Given the description of an element on the screen output the (x, y) to click on. 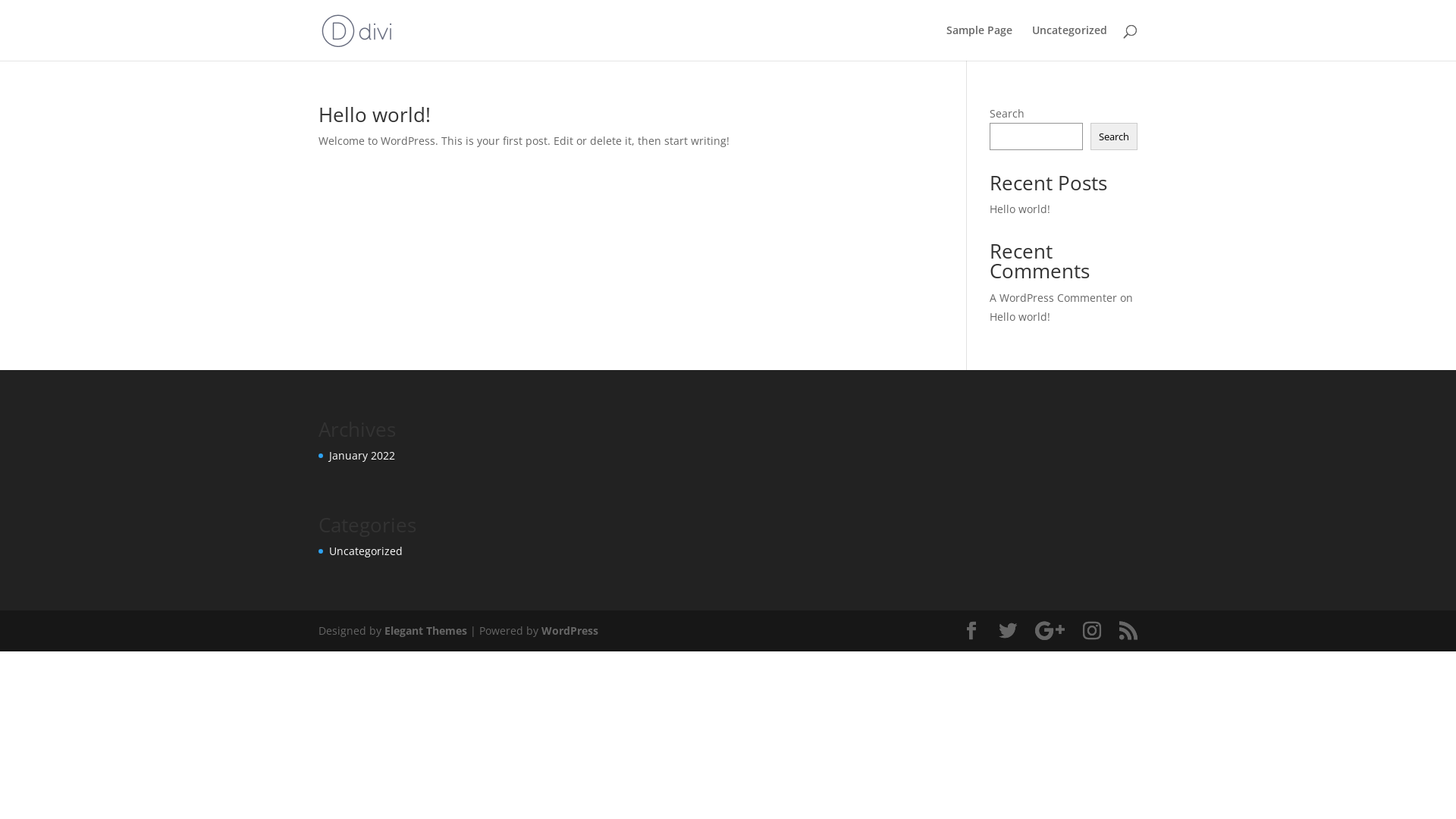
Sample Page Element type: text (979, 42)
Hello world! Element type: text (1019, 316)
Search Element type: text (1113, 136)
Hello world! Element type: text (374, 114)
Elegant Themes Element type: text (425, 630)
WordPress Element type: text (569, 630)
Uncategorized Element type: text (365, 550)
January 2022 Element type: text (362, 455)
A WordPress Commenter Element type: text (1053, 297)
Uncategorized Element type: text (1069, 42)
Hello world! Element type: text (1019, 208)
